Given the description of an element on the screen output the (x, y) to click on. 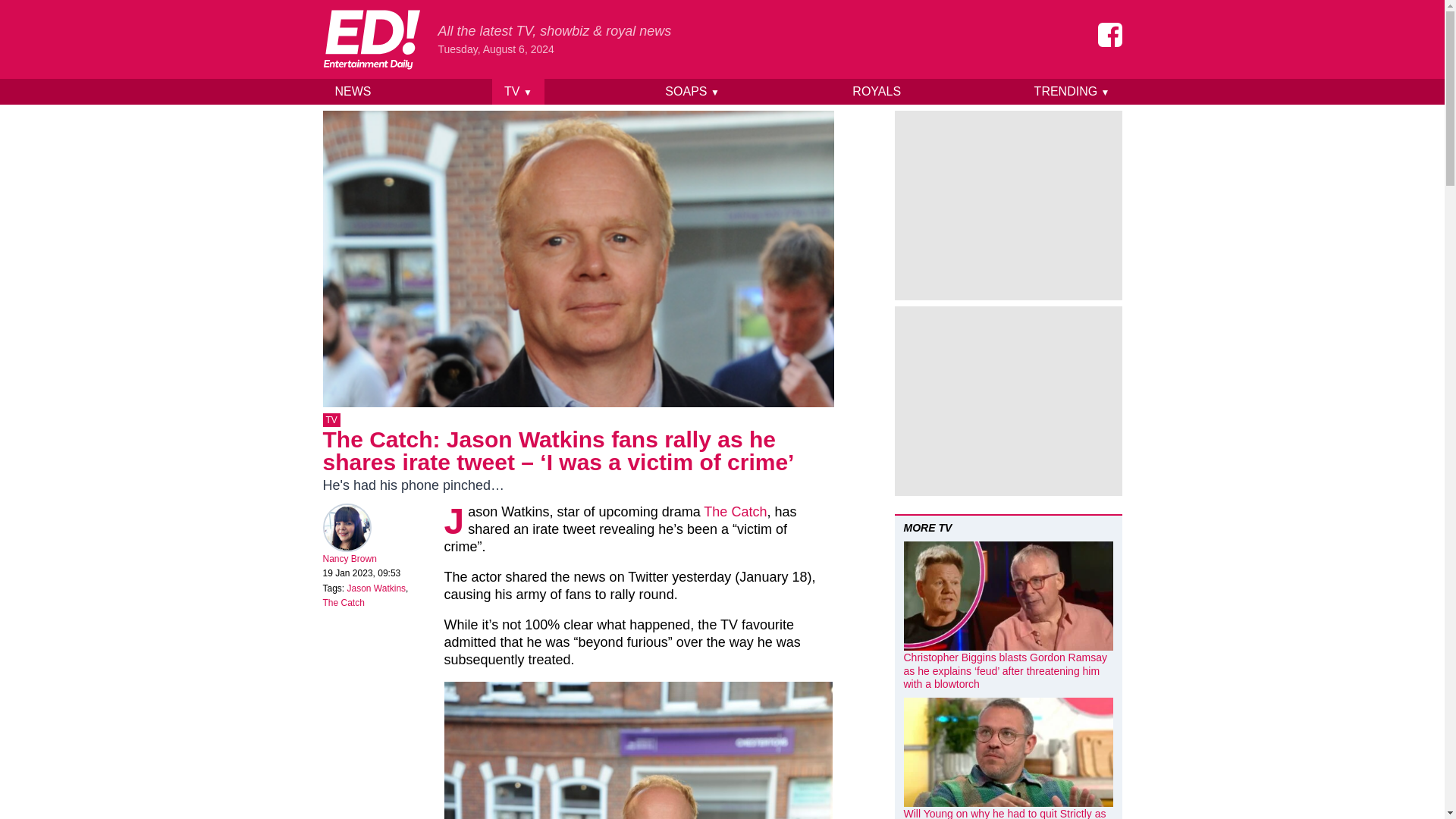
Nancy Brown (350, 558)
The Catch (344, 602)
ROYALS (876, 91)
TV (331, 419)
NEWS (353, 91)
Jason Watkins (376, 588)
The Catch (735, 511)
